Given the description of an element on the screen output the (x, y) to click on. 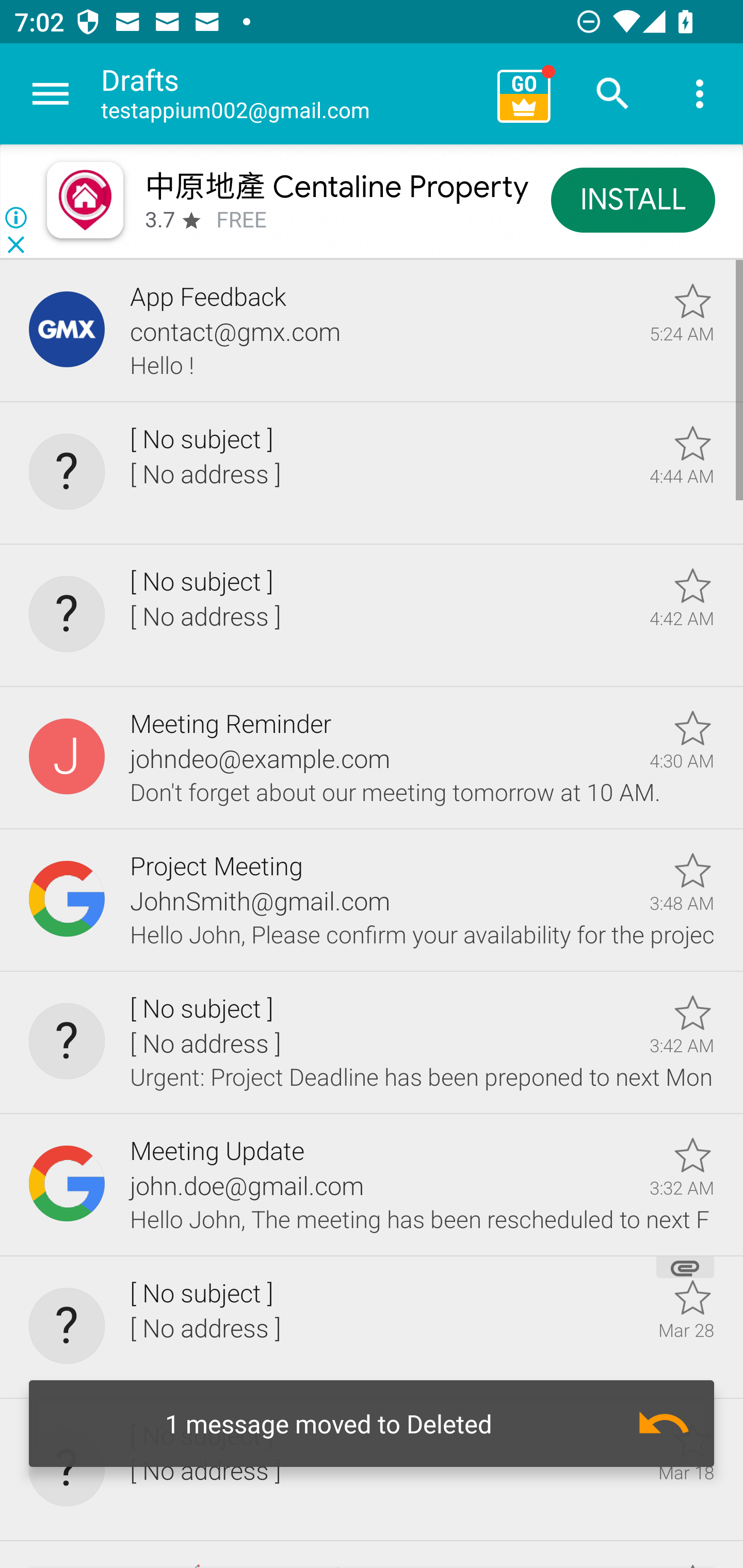
Navigate up (50, 93)
Drafts testappium002@gmail.com (291, 93)
Search (612, 93)
More options (699, 93)
中原地產 Centaline Property (335, 185)
INSTALL (632, 199)
3.7 (158, 220)
FREE (241, 220)
App Feedback, contact@gmx.com, 5:24 AM, Hello ! (371, 331)
[ No subject ], [ No address ], 4:44 AM (371, 473)
[ No subject ], [ No address ], 4:42 AM (371, 615)
Undo 1 message moved to Deleted (371, 1423)
